Given the description of an element on the screen output the (x, y) to click on. 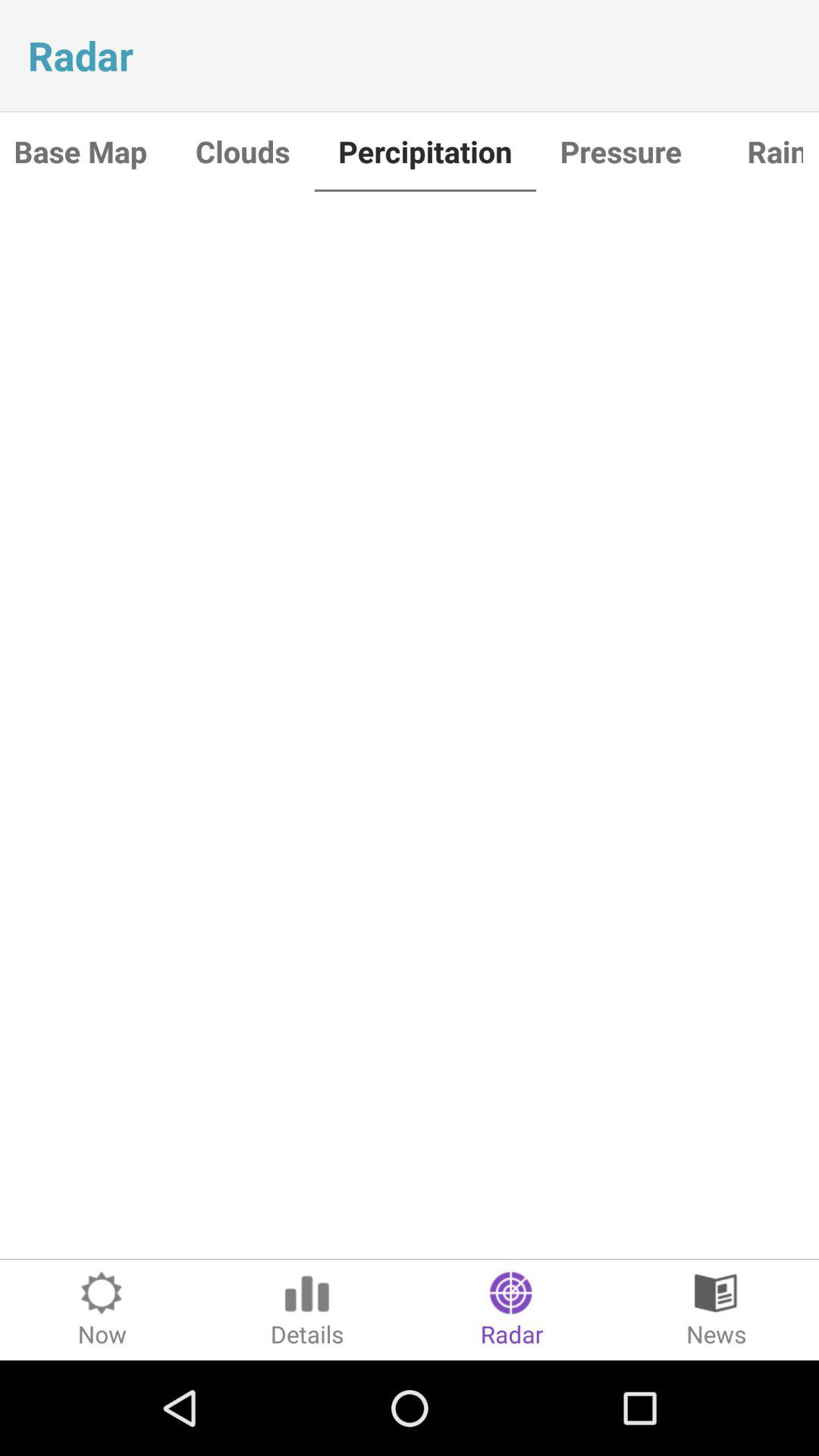
press item at the bottom right corner (716, 1310)
